Given the description of an element on the screen output the (x, y) to click on. 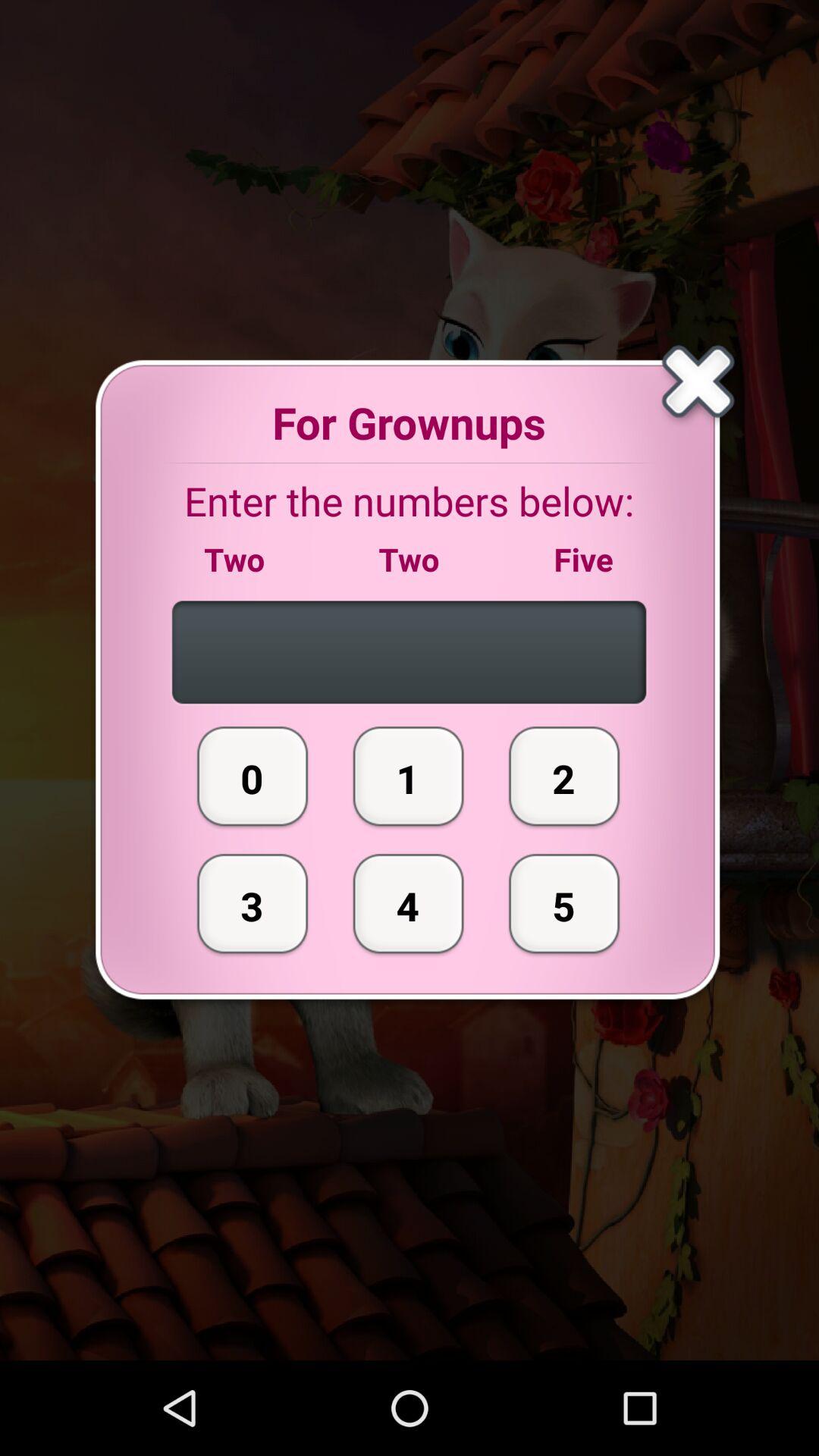
turn on button to the right of the 1 (564, 903)
